Given the description of an element on the screen output the (x, y) to click on. 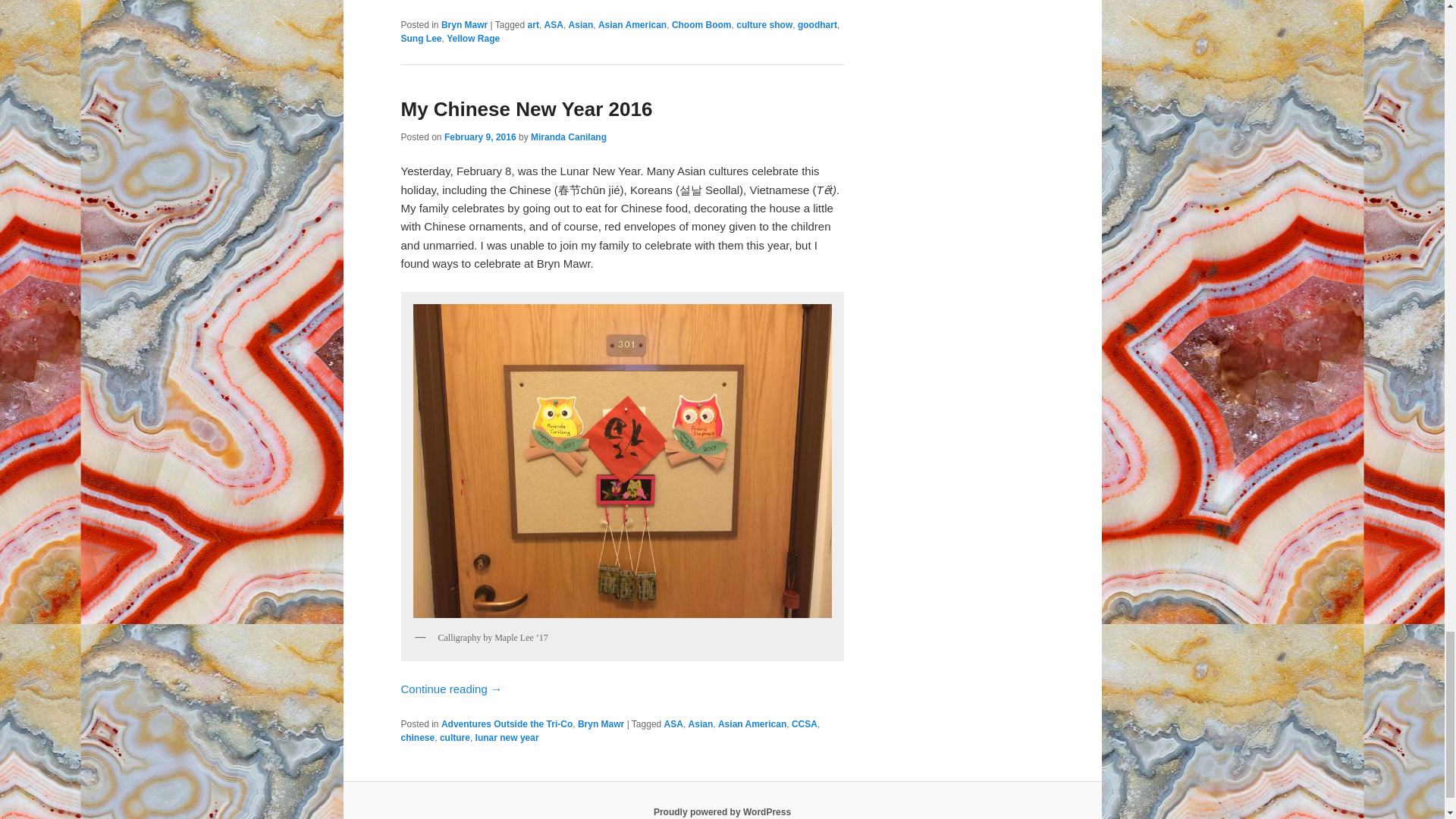
Semantic Personal Publishing Platform (721, 811)
View all posts by Miranda Canilang (569, 136)
10:51 am (480, 136)
